Given the description of an element on the screen output the (x, y) to click on. 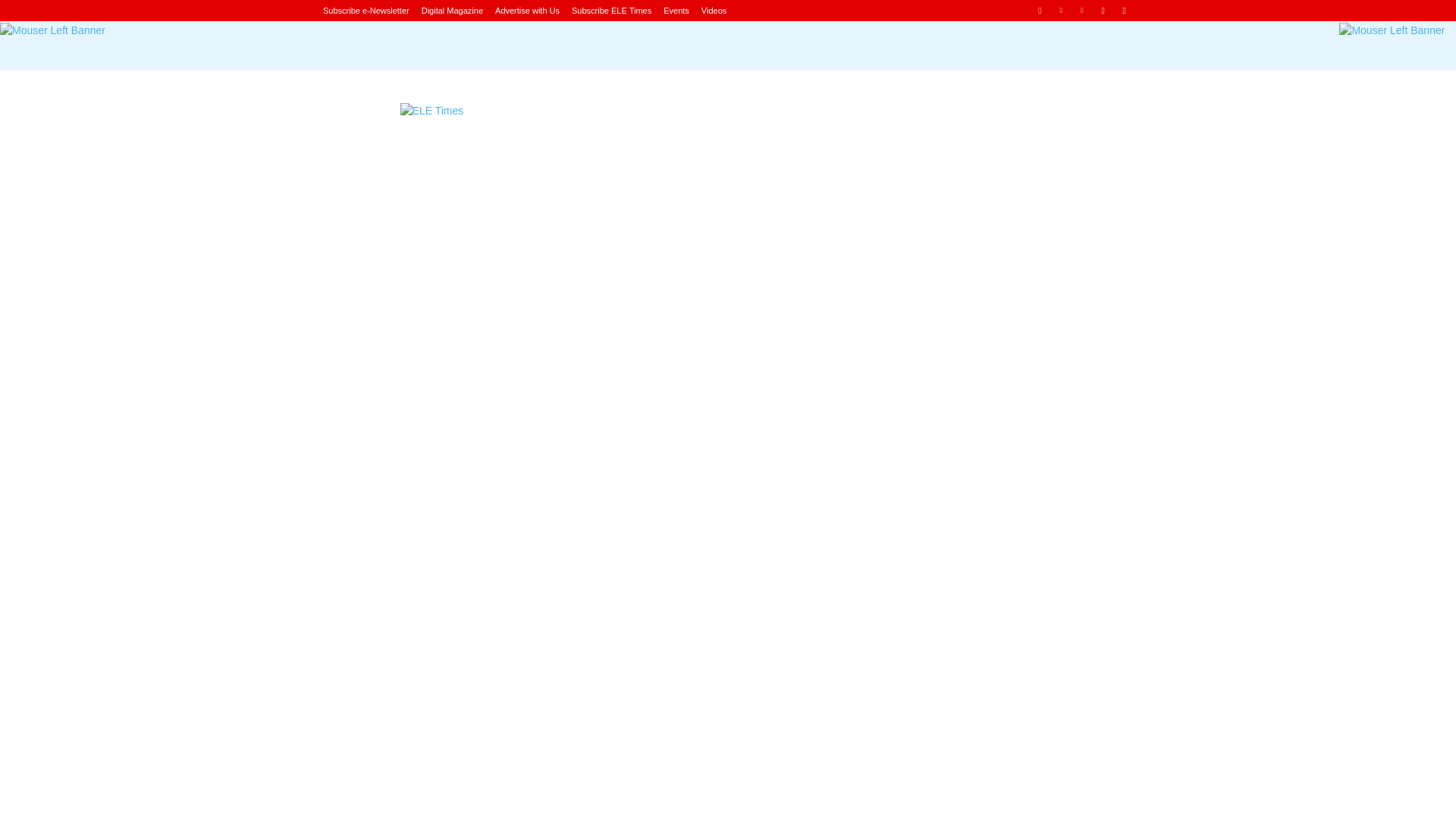
Linkedin (1061, 9)
Twitter (1123, 9)
Facebook (1039, 9)
Tumblr (1103, 9)
Pinterest (1082, 9)
